Given the description of an element on the screen output the (x, y) to click on. 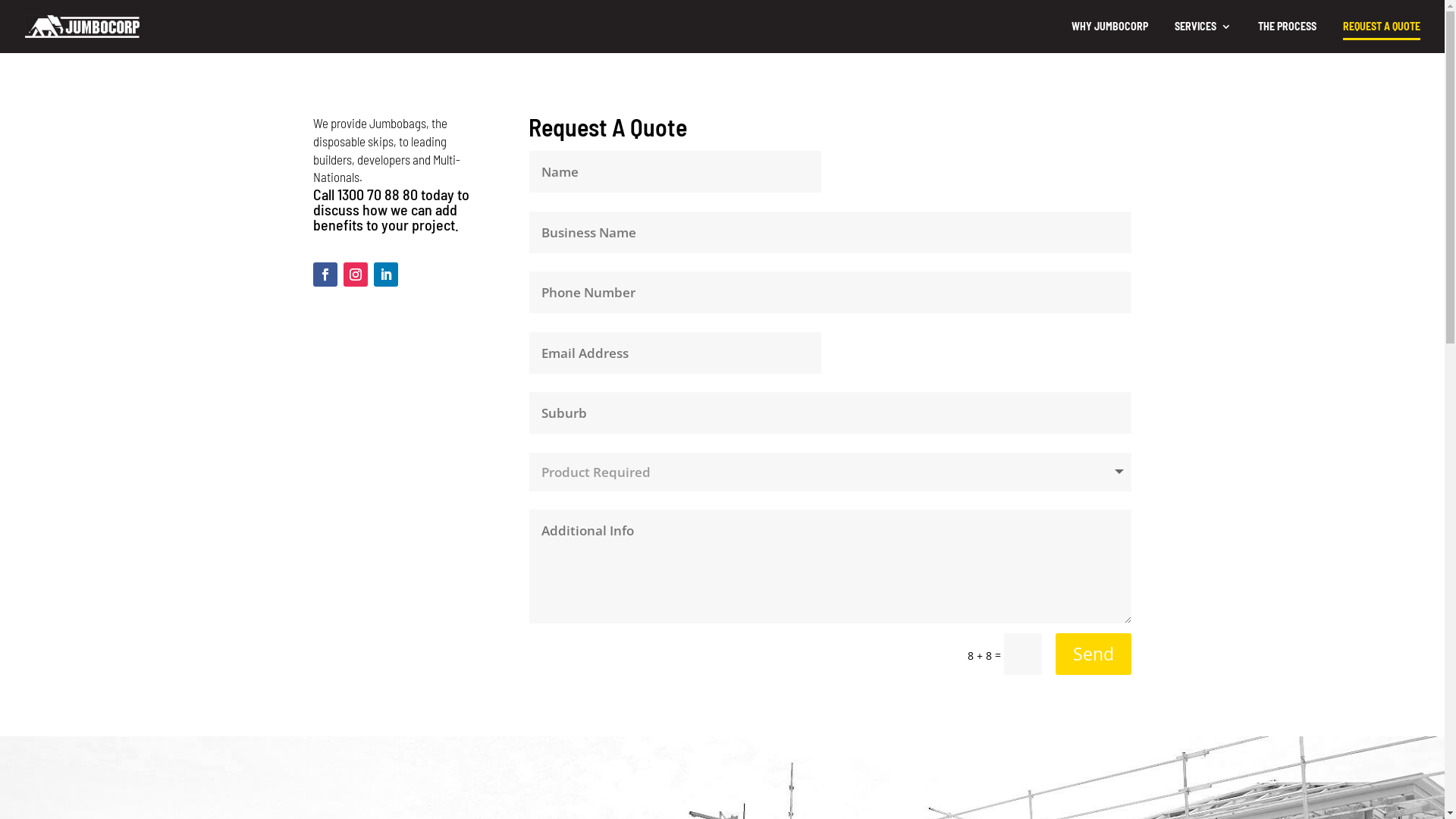
SERVICES Element type: text (1202, 37)
Follow on Facebook Element type: hover (324, 274)
Follow on LinkedIn Element type: hover (385, 274)
THE PROCESS Element type: text (1287, 37)
Send Element type: text (1093, 653)
REQUEST A QUOTE Element type: text (1381, 30)
Follow on Instagram Element type: hover (354, 274)
1300 70 88 80 Element type: text (376, 194)
WHY JUMBOCORP Element type: text (1109, 37)
